Given the description of an element on the screen output the (x, y) to click on. 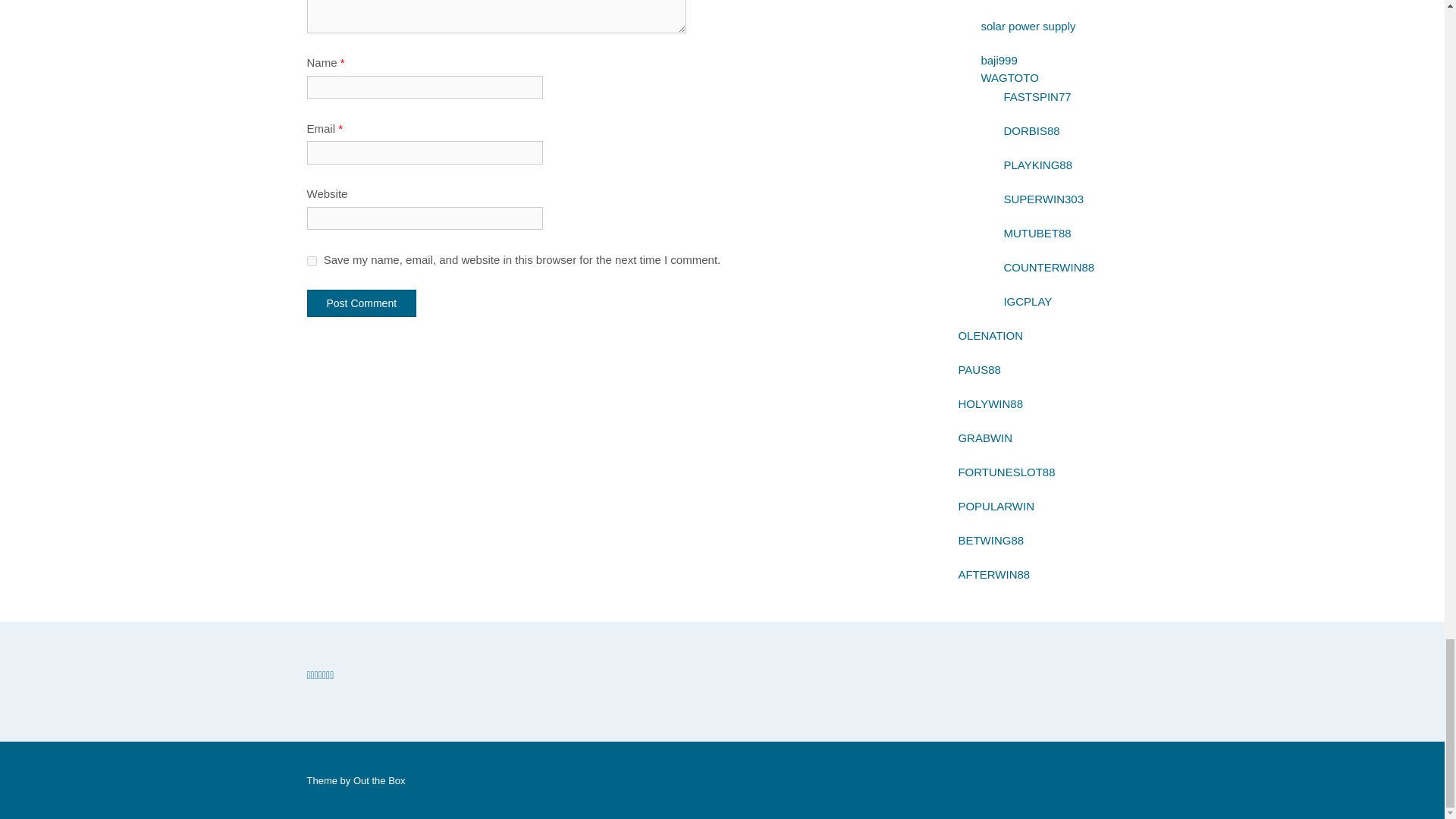
Post Comment (360, 302)
yes (310, 260)
Post Comment (360, 302)
